Given the description of an element on the screen output the (x, y) to click on. 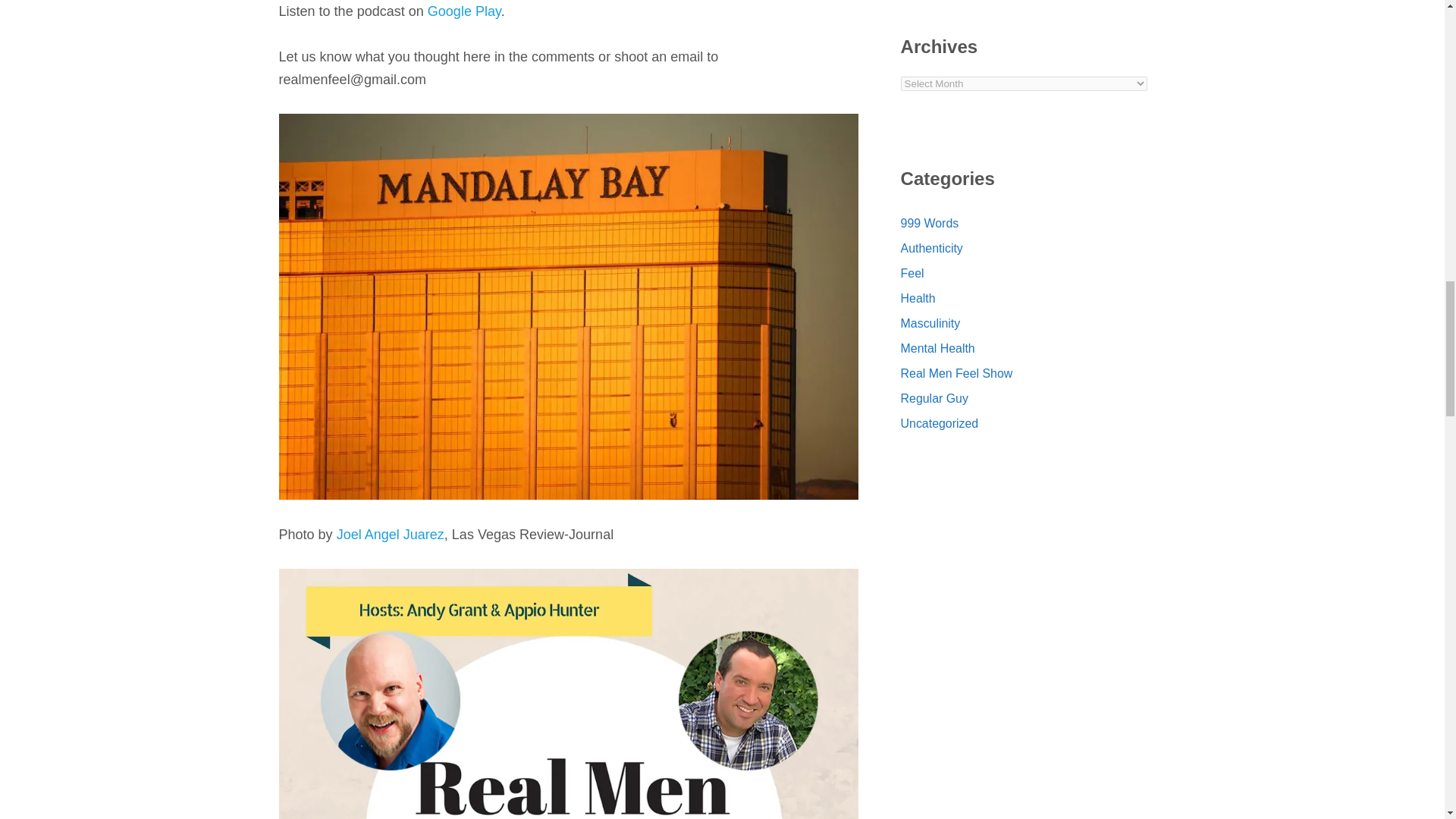
Joel Angel Juarez (390, 534)
Google Play (464, 11)
